Given the description of an element on the screen output the (x, y) to click on. 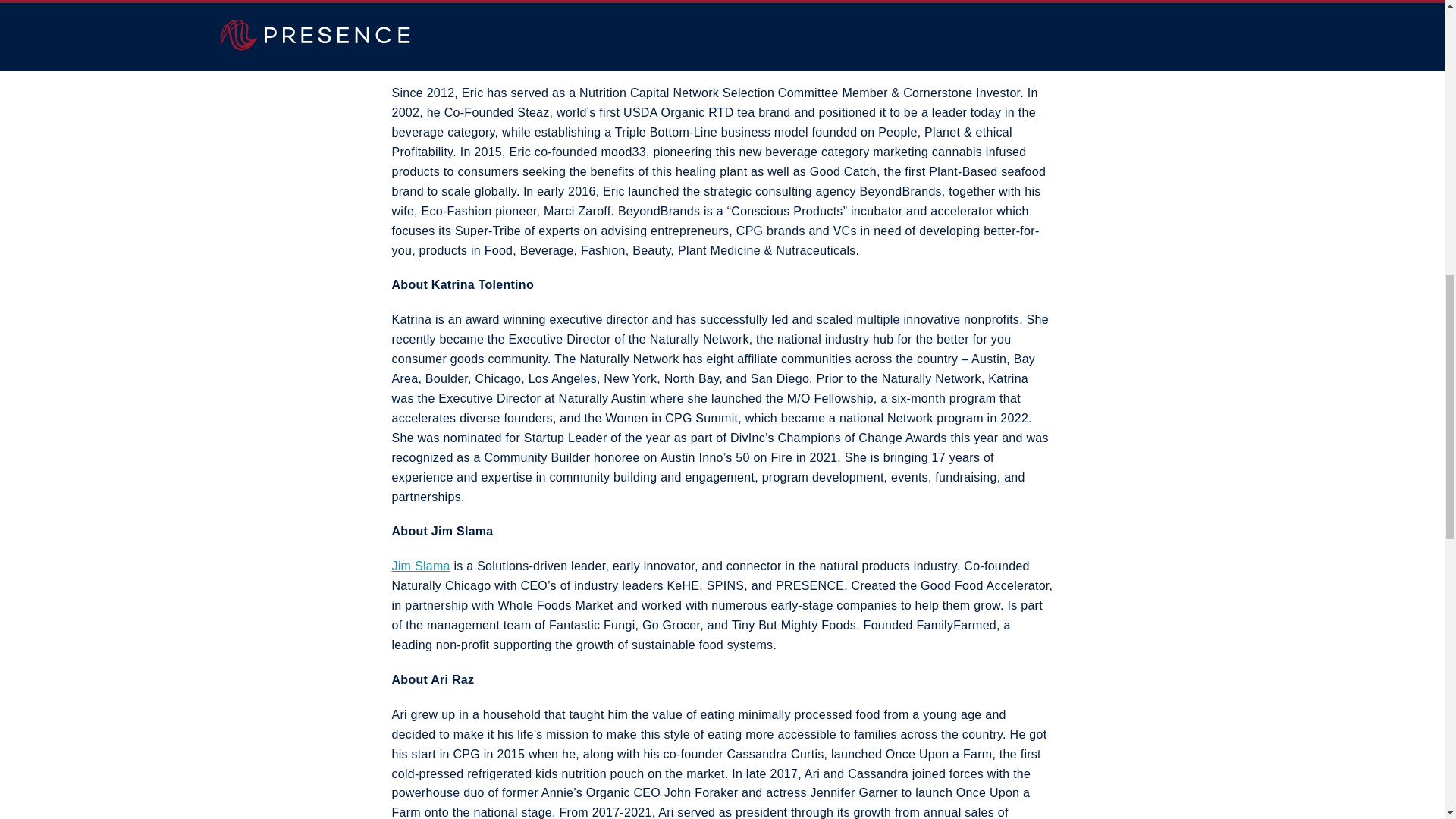
Jim Slama (420, 565)
BevNET.com (681, 38)
